Given the description of an element on the screen output the (x, y) to click on. 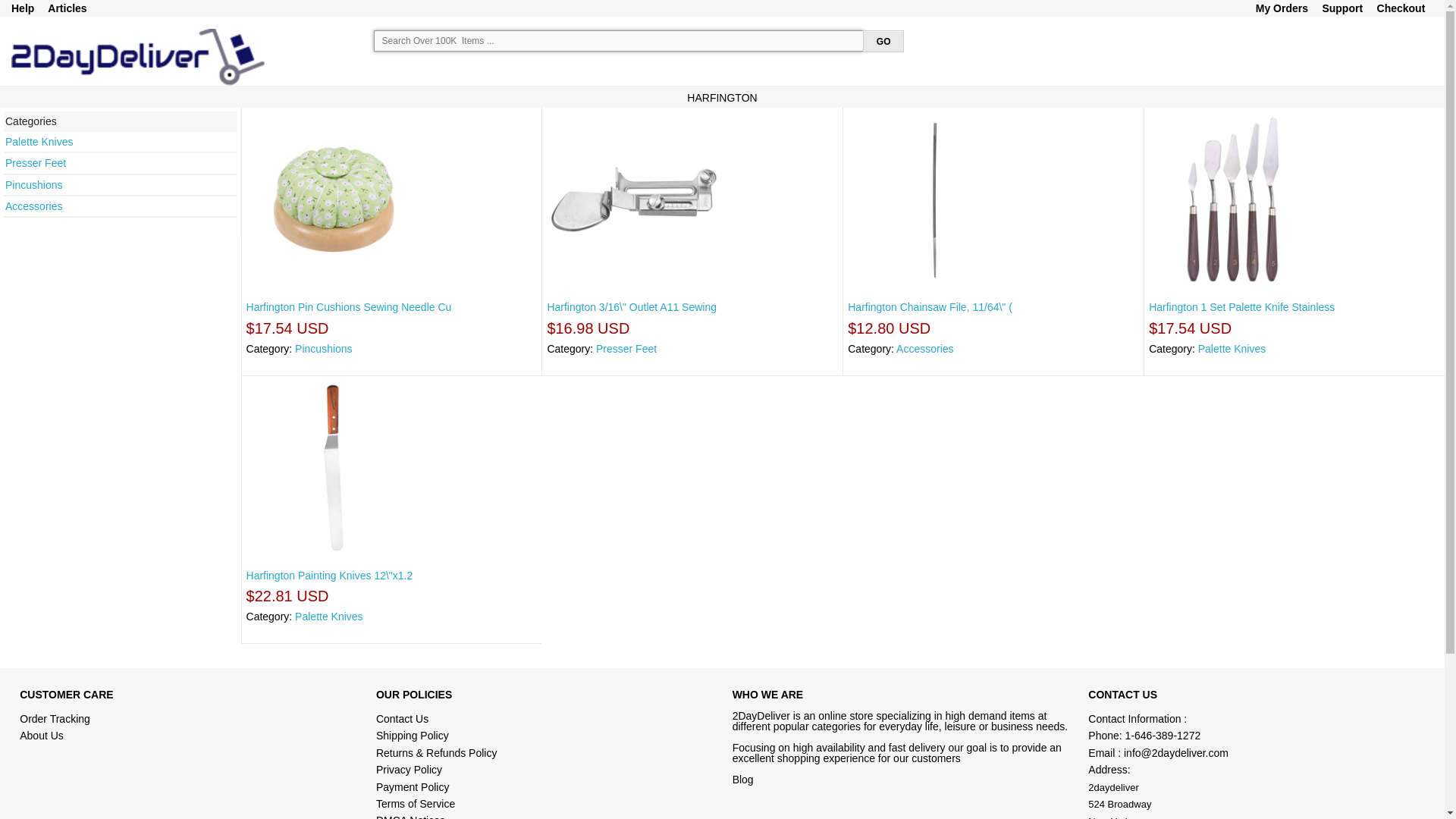
Support Element type: text (1341, 8)
Returns & Refunds Policy Element type: text (436, 752)
Harfington Pin Cushions Sewing Needle Cu Element type: text (348, 307)
 GO  Element type: text (882, 40)
Terms of Service Element type: text (415, 803)
Pincushions Element type: text (33, 184)
About Us Element type: text (41, 735)
Palette Knives Element type: text (39, 141)
My Orders Element type: text (1281, 8)
info@2daydeliver.com Element type: text (1175, 752)
Harfington Chainsaw File, 11/64\" ( Element type: text (929, 307)
Presser Feet Element type: text (35, 162)
Palette Knives Element type: text (1232, 348)
Pincushions Element type: text (323, 348)
Payment Policy Element type: text (412, 787)
Blog Element type: text (742, 779)
Accessories Element type: text (33, 206)
Contact Us Element type: text (402, 718)
Presser Feet Element type: text (626, 348)
Help Element type: text (22, 8)
Order Tracking Element type: text (54, 718)
Harfington 3/16\" Outlet A11 Sewing Element type: text (631, 307)
Articles Element type: text (66, 8)
Accessories Element type: text (924, 348)
Privacy Policy Element type: text (409, 769)
Shipping Policy Element type: text (413, 735)
1-646-389-1272 Element type: text (1163, 735)
Harfington 1 Set Palette Knife Stainless Element type: text (1241, 307)
Harfington Painting Knives 12\"x1.2 Element type: text (329, 575)
Checkout Element type: text (1401, 8)
Palette Knives Element type: text (328, 616)
